Given the description of an element on the screen output the (x, y) to click on. 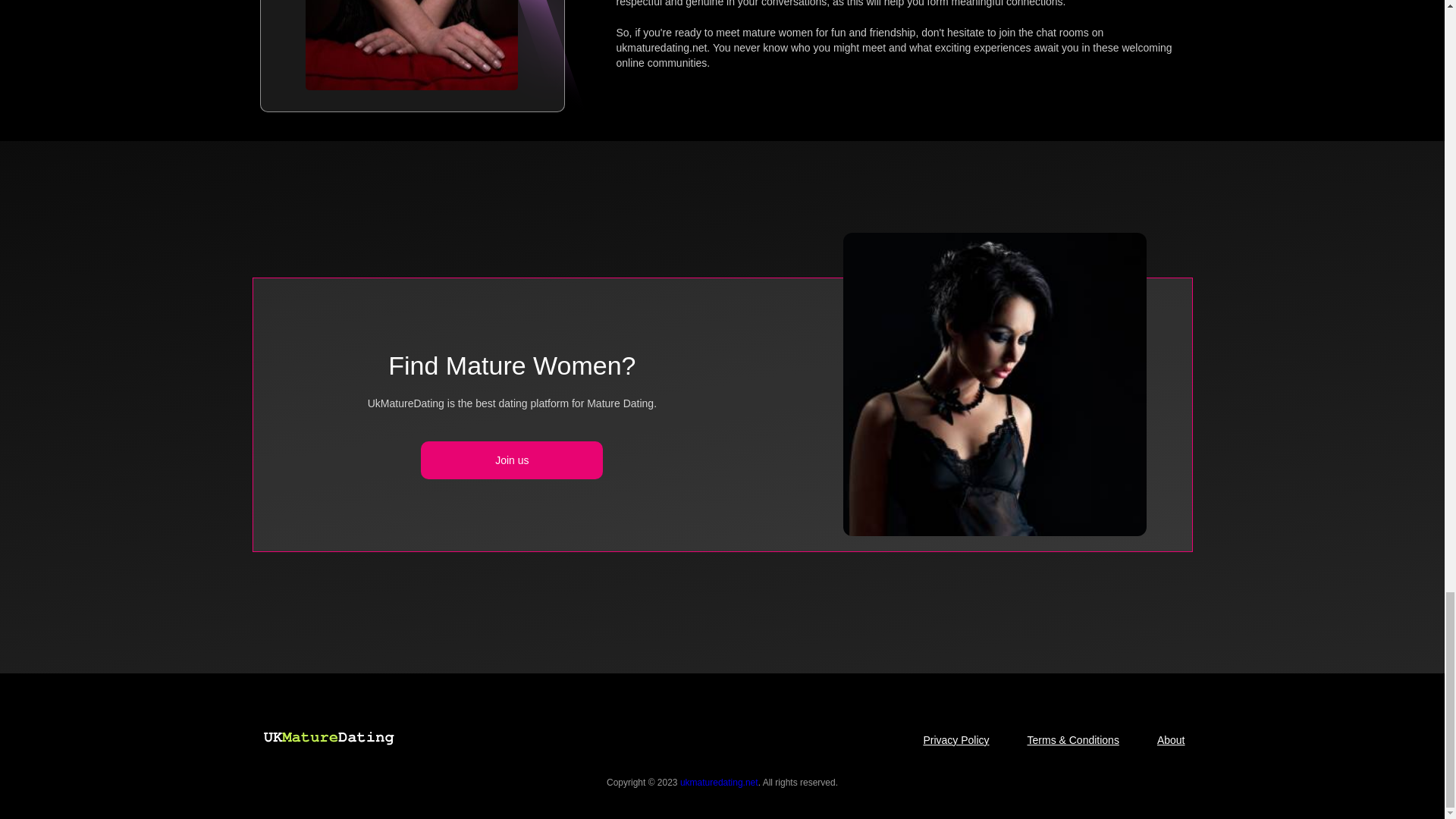
Join us (511, 460)
ukmaturedating.net (718, 782)
About (1171, 739)
Privacy Policy (955, 739)
